Given the description of an element on the screen output the (x, y) to click on. 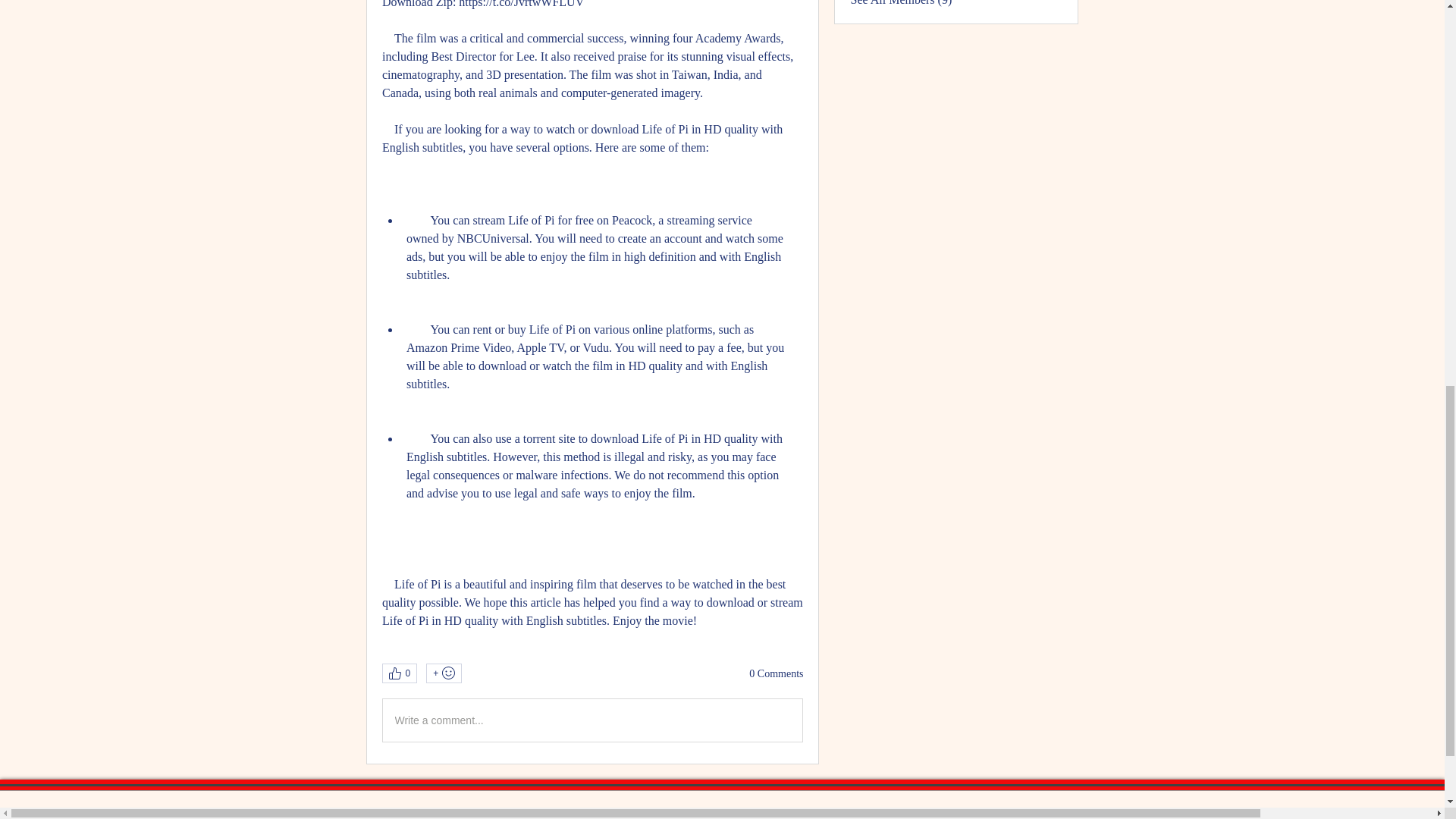
Write a comment... (591, 720)
0 Comments (776, 673)
